Given the description of an element on the screen output the (x, y) to click on. 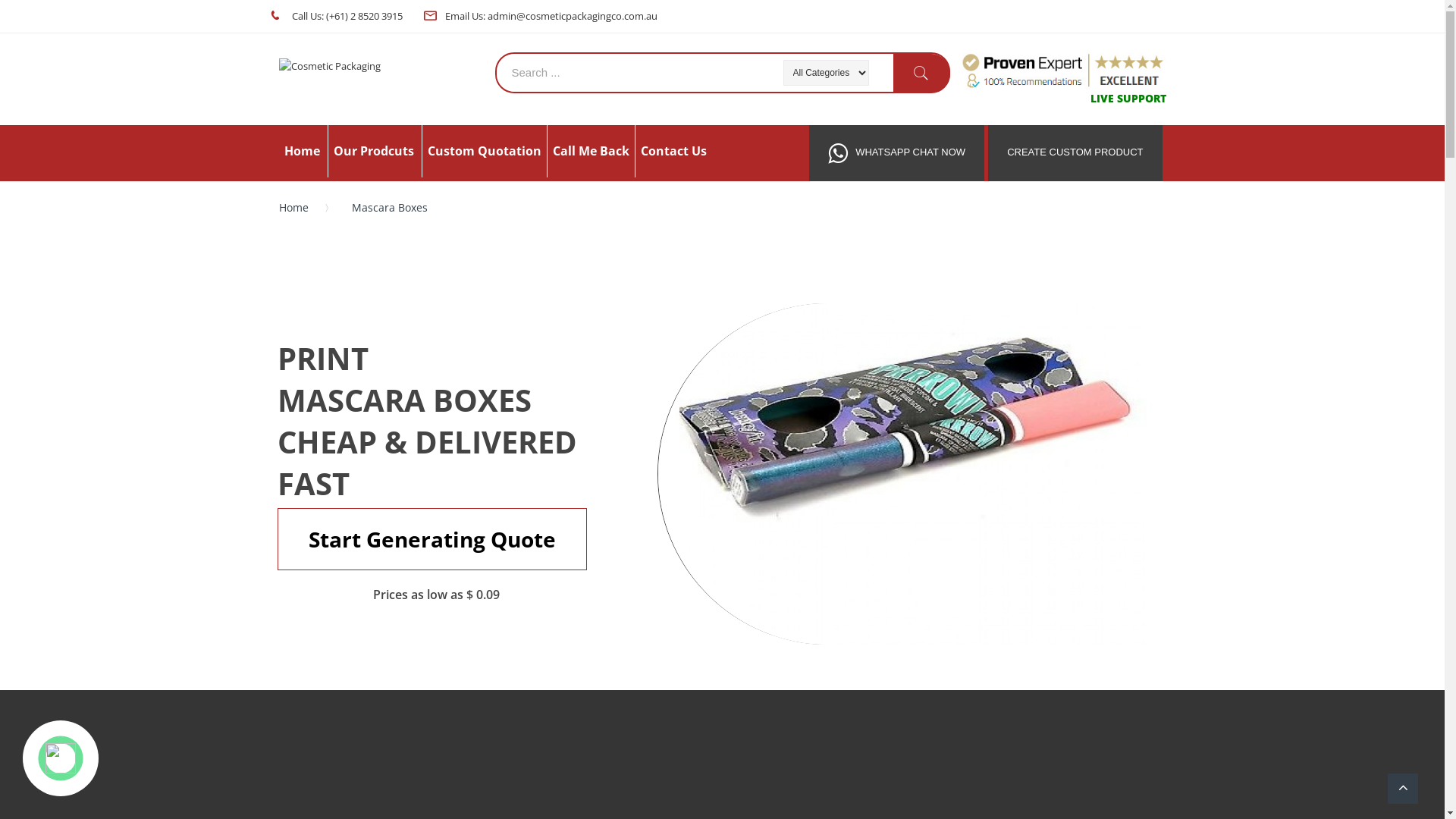
Contact Us Element type: text (672, 151)
Mascara boxes Element type: hover (912, 473)
LIVE SUPPORT Element type: text (1128, 98)
WHATSAPP CHAT NOW Element type: text (896, 153)
Start Generating Quote Element type: text (431, 539)
Home Element type: text (302, 151)
Call Me Back Element type: text (589, 151)
Custom Quotation Element type: text (483, 151)
Cosmetic Packaging  Element type: hover (381, 65)
Search Element type: hover (921, 72)
Call Us: (+61) 2 8520 3915 Element type: text (345, 15)
Our Prodcuts Element type: text (373, 151)
Email Us: admin@cosmeticpackagingco.com.au Element type: text (550, 15)
CREATE CUSTOM PRODUCT Element type: text (1074, 153)
Home Element type: text (298, 207)
